Given the description of an element on the screen output the (x, y) to click on. 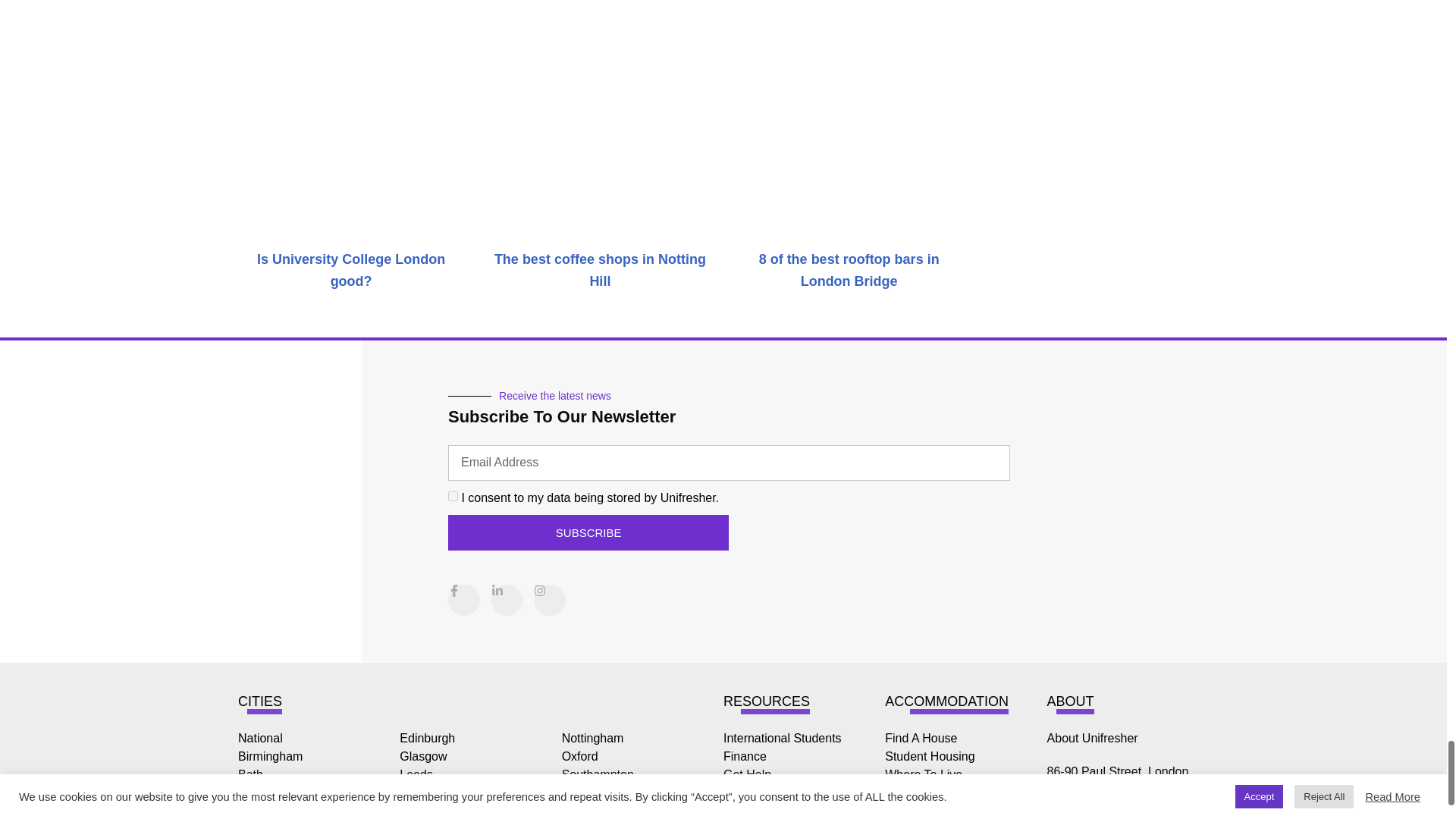
on (453, 496)
